Given the description of an element on the screen output the (x, y) to click on. 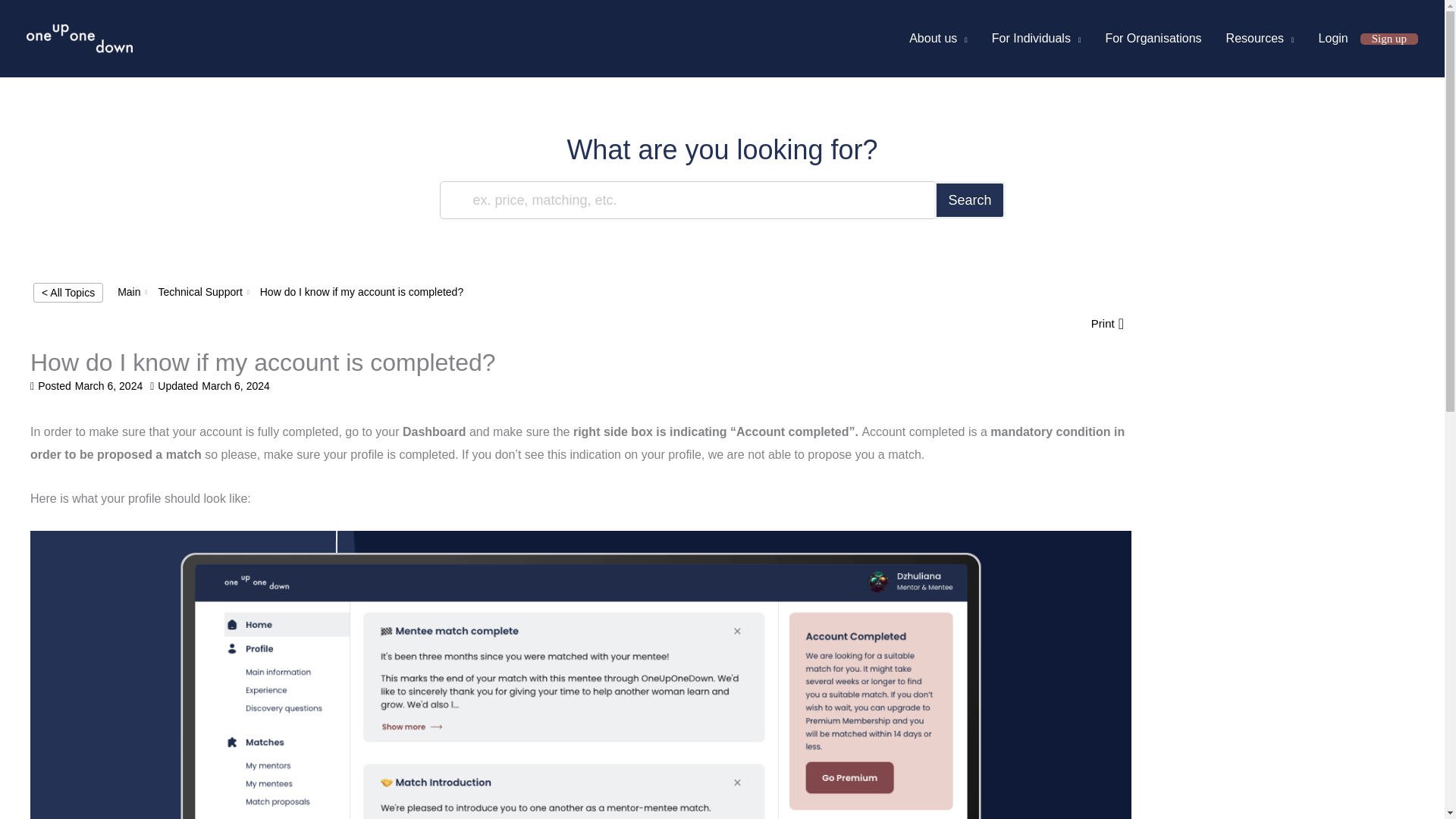
Resources (1260, 38)
For Organisations (1152, 38)
Search (969, 199)
Login (1332, 38)
For Individuals (1036, 38)
About us (937, 38)
Technical Support (199, 291)
Main (128, 291)
Sign up (1388, 39)
